Given the description of an element on the screen output the (x, y) to click on. 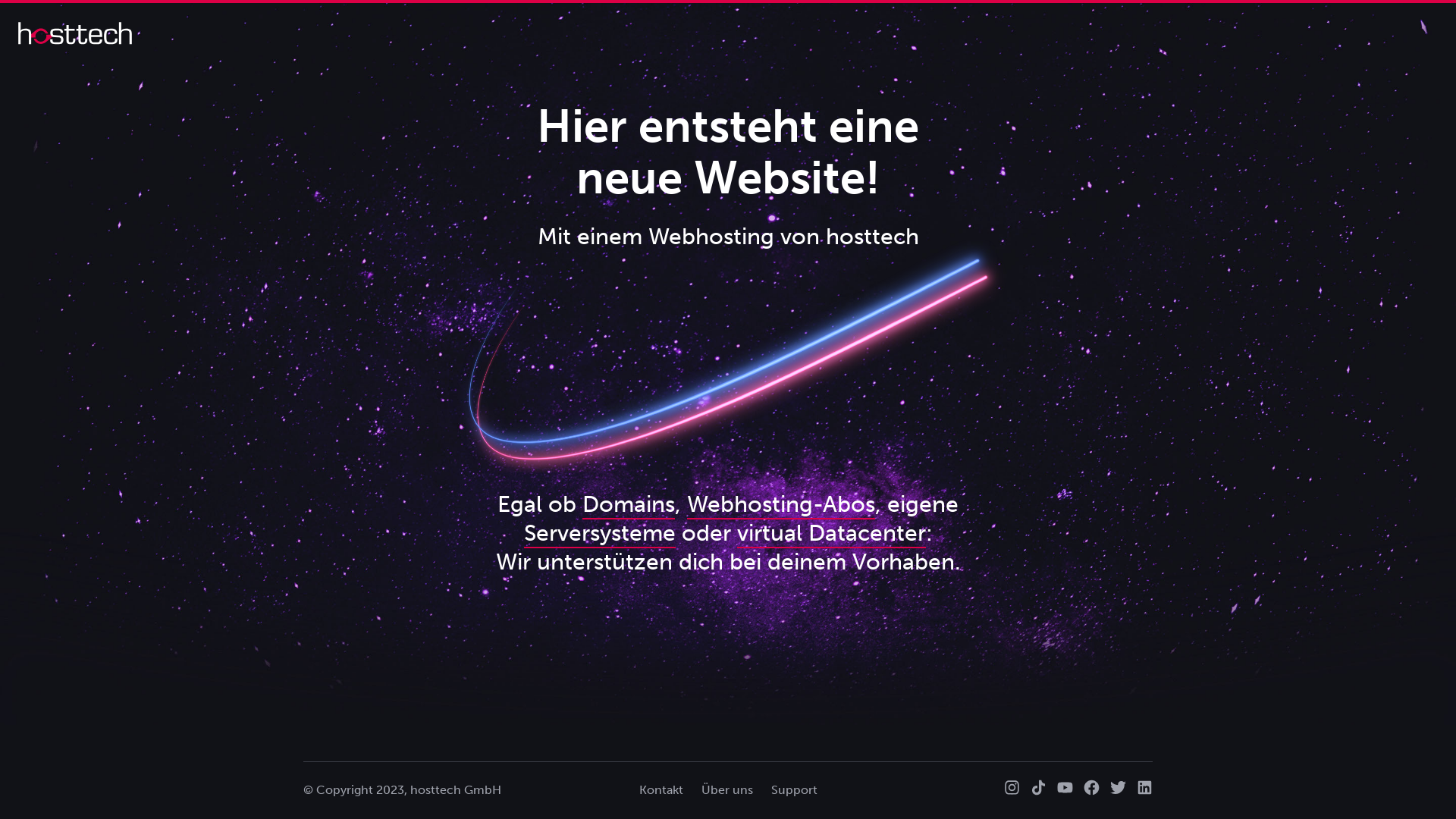
Serversysteme Element type: text (598, 533)
Kontakt Element type: text (660, 789)
Webhosting-Abos Element type: text (781, 504)
Support Element type: text (793, 789)
Domains Element type: text (628, 504)
virtual Datacenter Element type: text (831, 533)
